Given the description of an element on the screen output the (x, y) to click on. 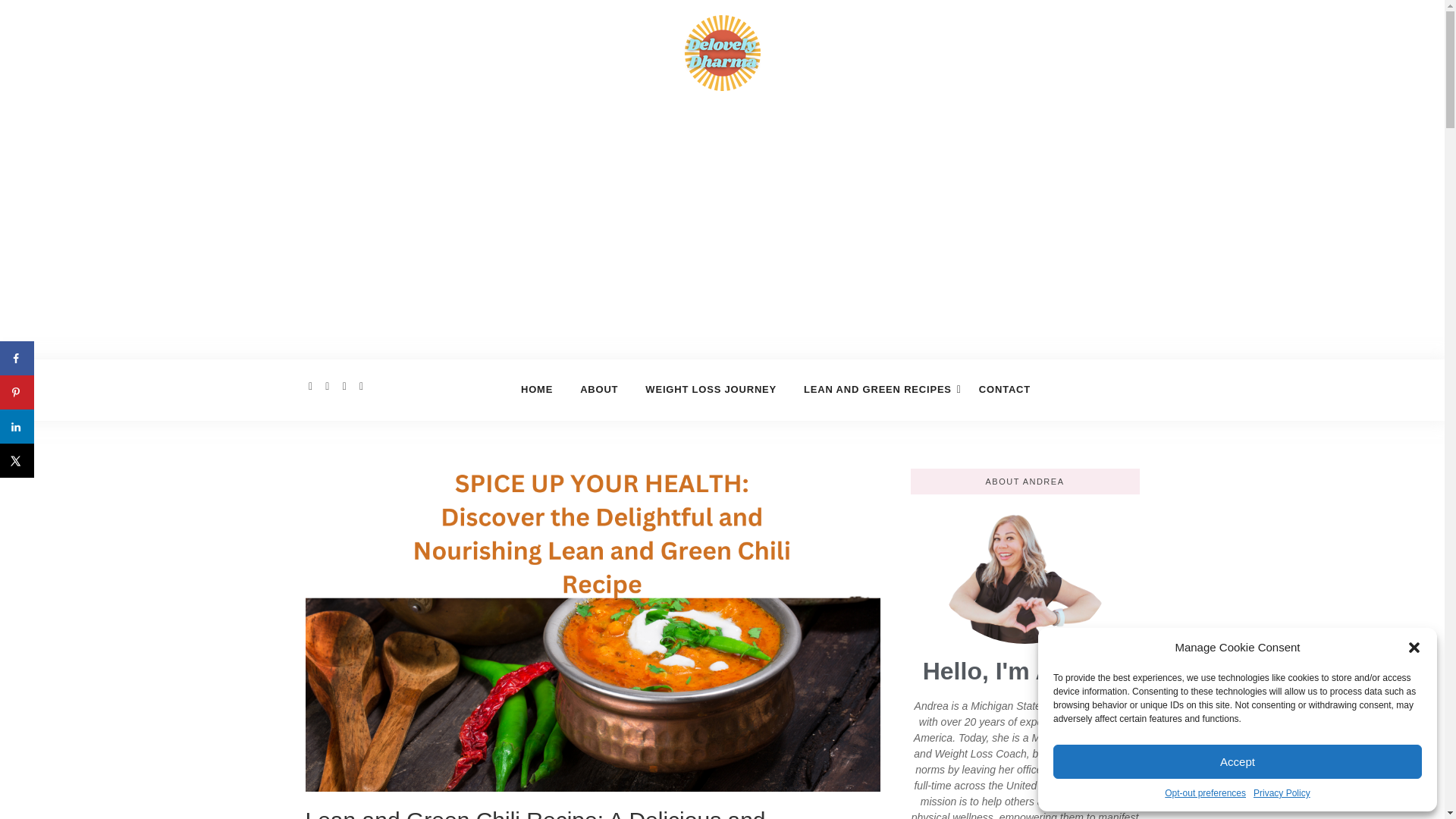
WEIGHT LOSS JOURNEY (711, 389)
CONTACT (1004, 389)
HOME (537, 389)
Accept (1237, 761)
ABOUT (598, 389)
Opt-out preferences (1205, 793)
Privacy Policy (1281, 793)
LEAN AND GREEN RECIPES (877, 389)
